Given the description of an element on the screen output the (x, y) to click on. 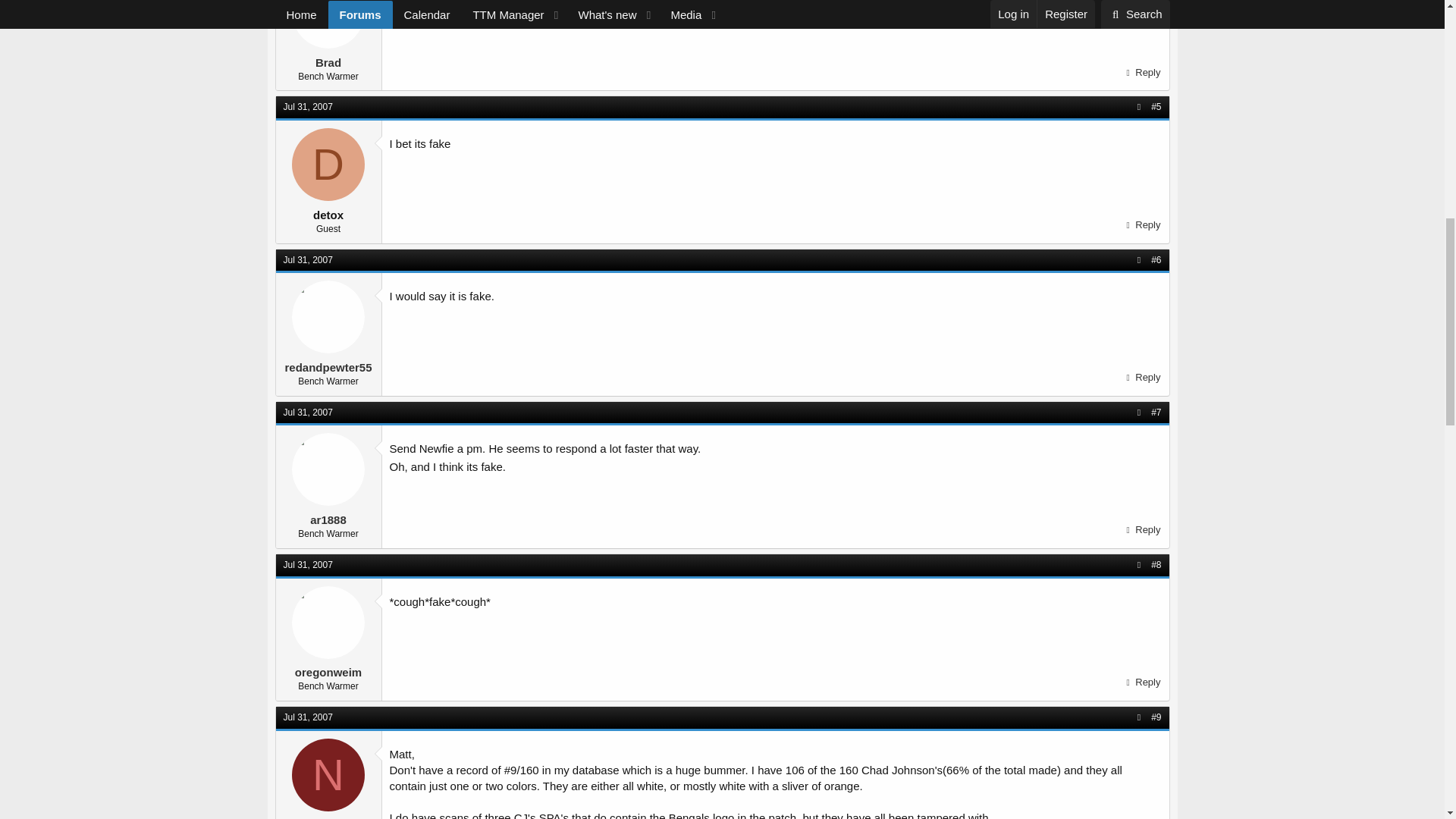
Jul 31, 2007 at 12:21 AM (308, 106)
Reply, quoting this message (1141, 377)
Reply, quoting this message (1141, 225)
Reply, quoting this message (1141, 72)
Jul 31, 2007 at 12:37 AM (308, 259)
detox (328, 163)
